Given the description of an element on the screen output the (x, y) to click on. 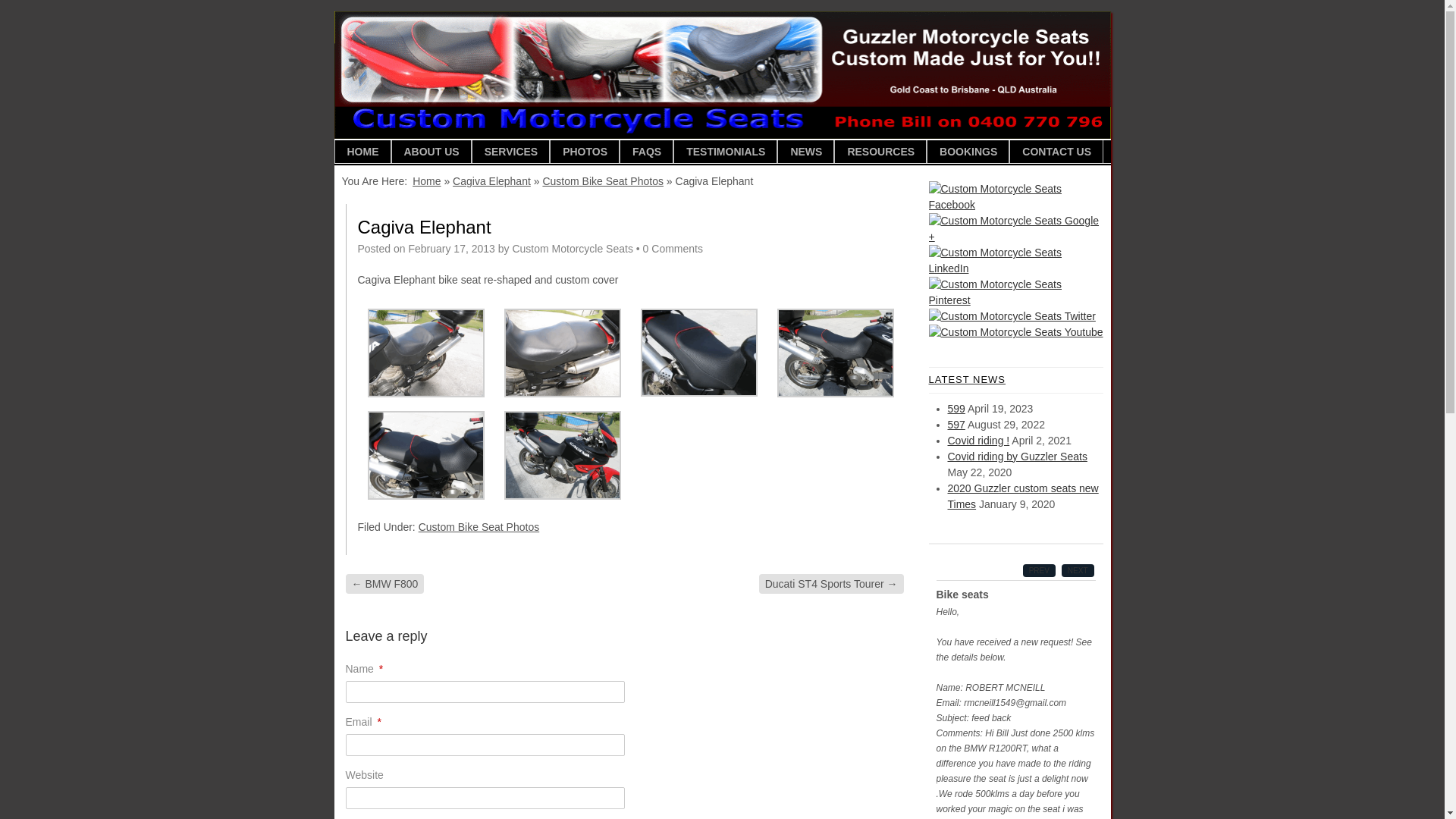
HOME Element type: text (361, 151)
Custom Motorcycle Seats LinkedIn Element type: hover (1015, 260)
0 Comments Element type: text (672, 248)
Custom Bike Seat Photos Element type: text (478, 526)
Cagiva Elephant Element type: hover (561, 495)
Custom Motorcycle Seats Twitter Element type: hover (1011, 316)
Custom Motorcycle Seats Facebook Element type: hover (1015, 197)
FAQS Element type: text (646, 151)
Cagiva Elephant Element type: hover (425, 495)
Cagiva Elephant Element type: text (491, 181)
599 Element type: text (956, 407)
TESTIMONIALS Element type: text (725, 151)
Cagiva Elephant Element type: hover (425, 393)
Home Element type: text (426, 181)
BOOKINGS Element type: text (967, 151)
Covid riding ! Element type: text (978, 439)
NEWS Element type: text (805, 151)
Cagiva Elephant Element type: hover (561, 393)
Cagiva Elephant Element type: hover (834, 393)
LATEST NEWS Element type: text (1015, 380)
PHOTOS Element type: text (584, 151)
2020 Guzzler custom seats new Times Element type: text (1022, 496)
PREV Element type: text (1038, 570)
Custom Motorcycle Seats Google + Element type: hover (1015, 228)
Cagiva Elephant Element type: hover (698, 392)
ABOUT US Element type: text (431, 151)
Custom Motorcycle Seats Pinterest Element type: hover (1015, 292)
Covid riding by Guzzler Seats Element type: text (1017, 456)
Custom Bike Seat Photos Element type: text (602, 181)
RESOURCES Element type: text (880, 151)
NEXT Element type: text (1077, 570)
597 Element type: text (956, 424)
SERVICES Element type: text (510, 151)
CONTACT US Element type: text (1056, 151)
Custom Motorcycle Seats Element type: text (572, 248)
